Given the description of an element on the screen output the (x, y) to click on. 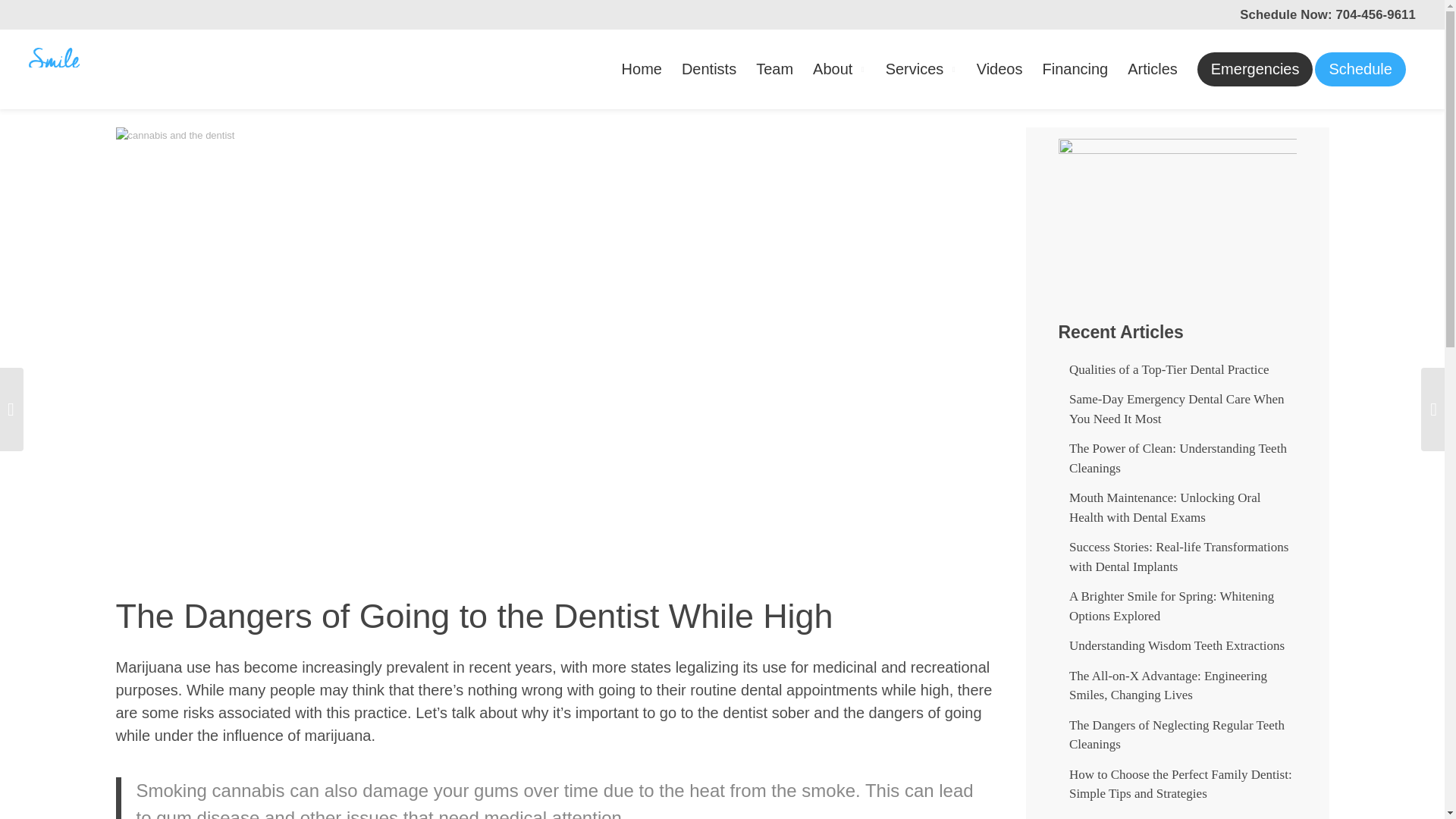
Services (921, 69)
704-456-9611 (1375, 14)
About (839, 69)
Dentists (708, 69)
